Given the description of an element on the screen output the (x, y) to click on. 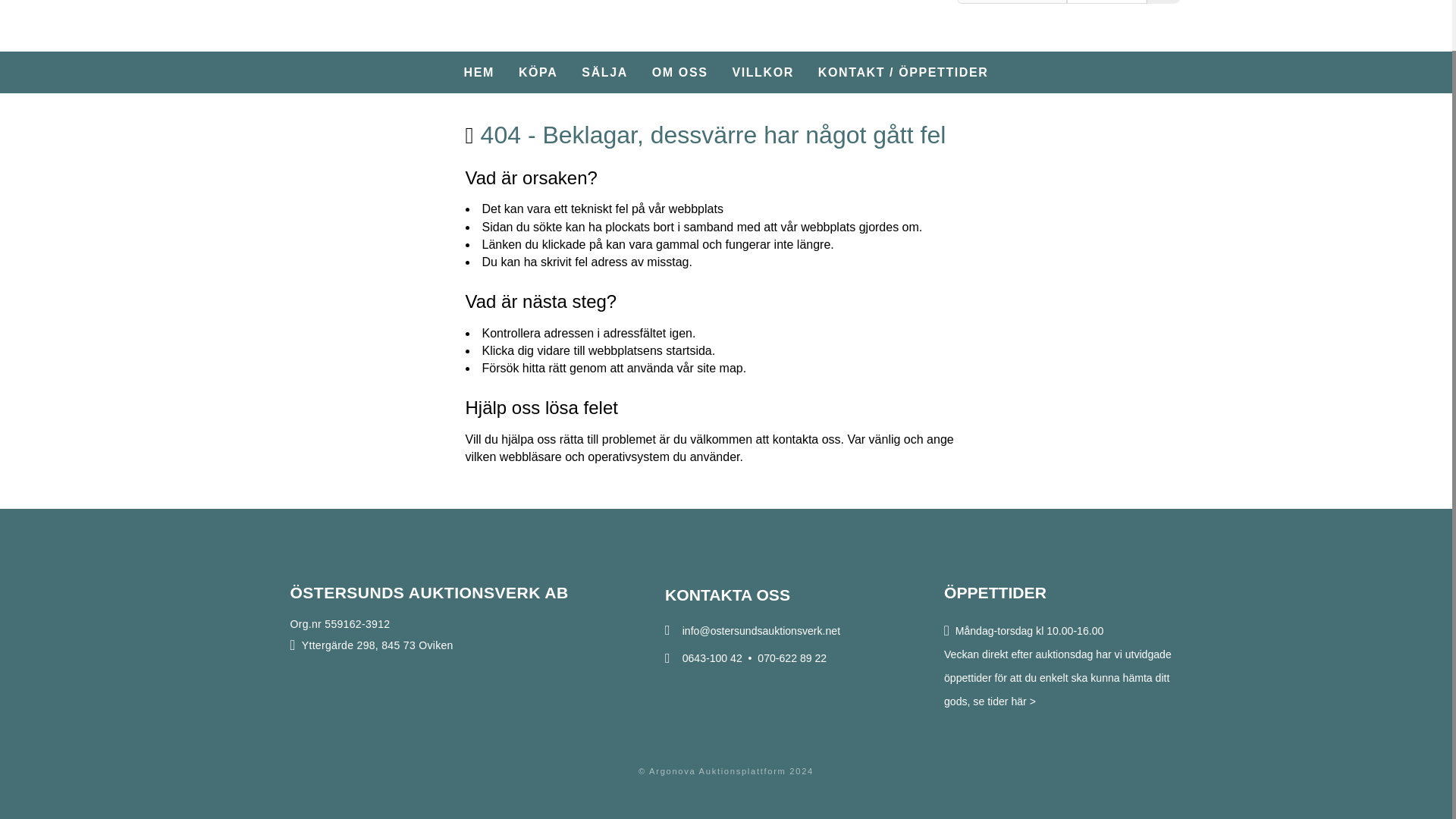
0643-100 42 (712, 657)
070-622 89 22 (792, 657)
HEM (479, 72)
VILLKOR (762, 72)
OM OSS (679, 72)
